Given the description of an element on the screen output the (x, y) to click on. 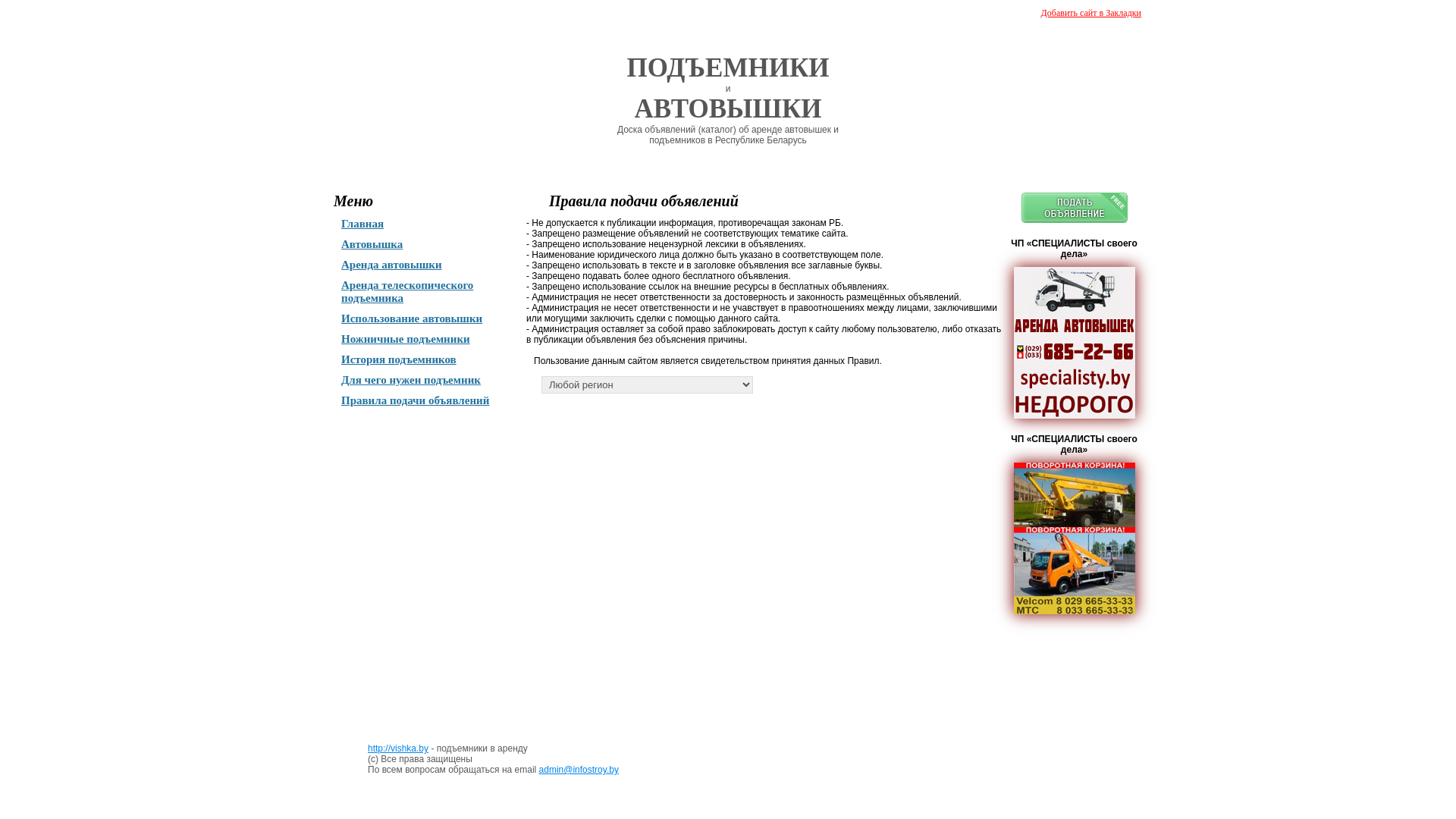
http://vishka.by Element type: text (397, 748)
admin@infostroy.by Element type: text (578, 769)
